Given the description of an element on the screen output the (x, y) to click on. 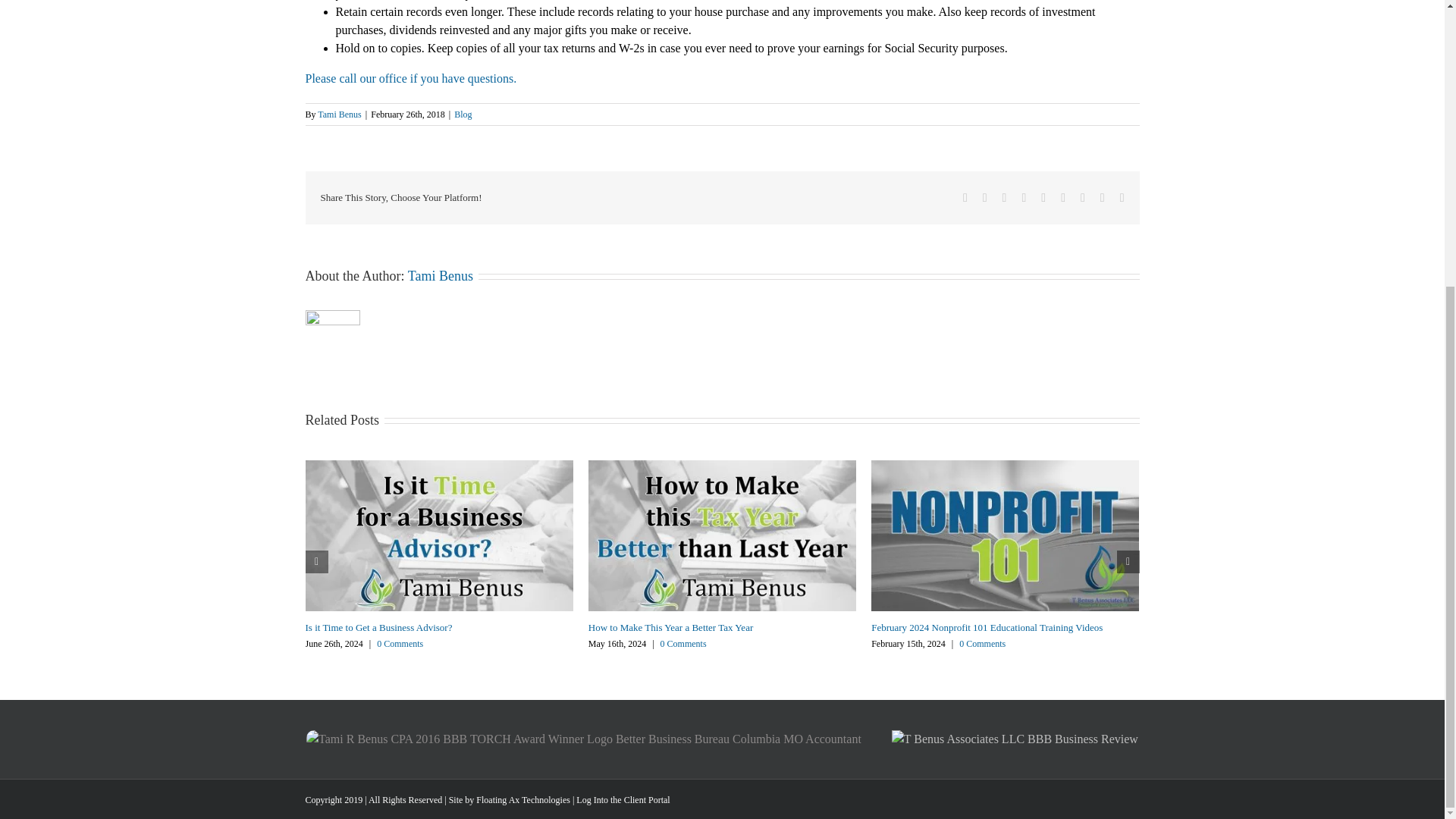
0 Comments (400, 643)
February 2024 Nonprofit 101 Educational Training Videos (986, 627)
Blog (462, 113)
Please call our office if you have questions. (410, 78)
Is it Time to Get a Business Advisor? (377, 627)
Tami Benus (339, 113)
Tami Benus (440, 275)
Posts by Tami Benus (339, 113)
Posts by Tami Benus (440, 275)
How to Make This Year a Better Tax Year (670, 627)
0 Comments (683, 643)
Is it Time to Get a Business Advisor? (377, 627)
How to Make This Year a Better Tax Year (670, 627)
February 2024 Nonprofit 101 Educational Training Videos (986, 627)
